Given the description of an element on the screen output the (x, y) to click on. 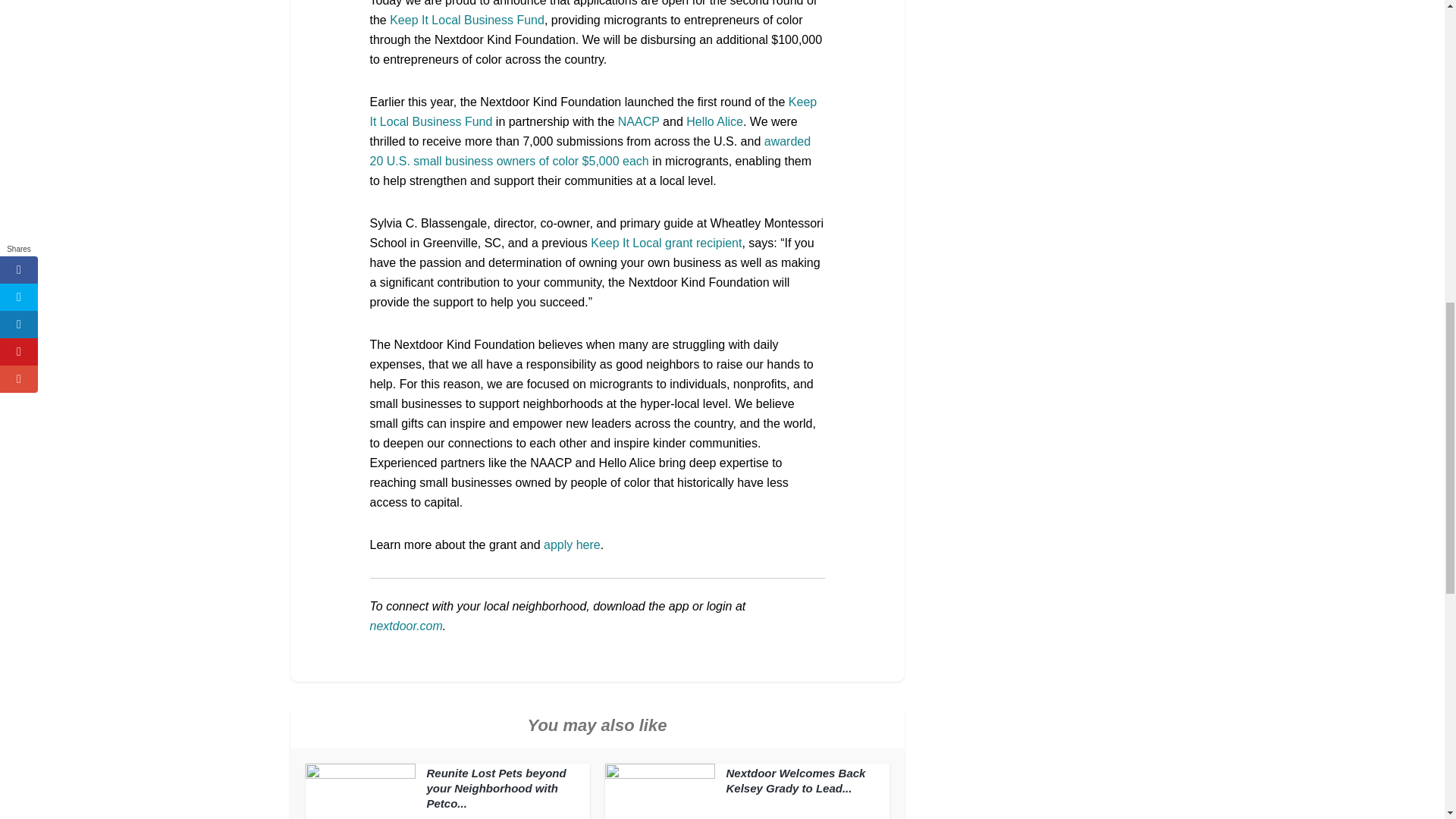
Hello Alice (713, 121)
Reunite Lost Pets beyond your Neighborhood with Petco Love (496, 787)
Nextdoor Welcomes Back Kelsey Grady to Lead... (796, 780)
Keep It Local Business Fund (467, 19)
nextdoor.com (405, 625)
Keep It Local grant recipient (666, 242)
Reunite Lost Pets beyond your Neighborhood with Petco... (496, 787)
NAACP (638, 121)
apply here (571, 544)
